Given the description of an element on the screen output the (x, y) to click on. 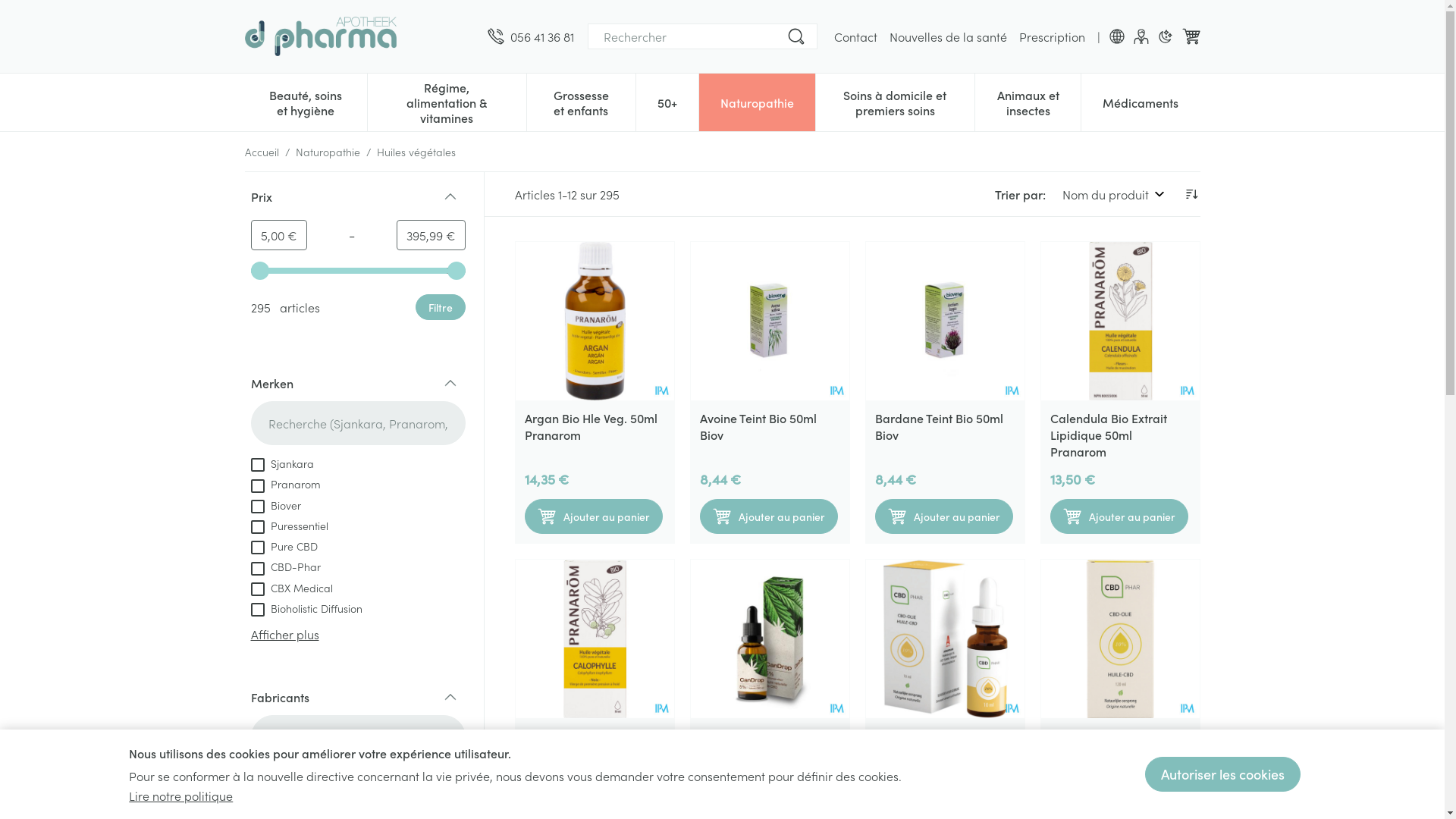
on Element type: text (256, 568)
Grossesse et enfants Element type: text (581, 100)
Argan Bio Hle Veg. 50ml Pranarom Element type: text (590, 425)
056 41 36 81 Element type: text (529, 36)
on Element type: text (256, 609)
Calophylle Bio Hle Veg. 50ml Pranarom Element type: text (588, 743)
Bardane Teint Bio 50ml Biov Element type: text (939, 425)
Pure CBD Element type: text (283, 544)
Avoine Teint Bio 50ml Biov Element type: hover (769, 320)
Ajouter au panier Element type: text (1118, 515)
Ajouter au panier Element type: text (593, 515)
on Element type: text (256, 547)
Bioholistic Diffusion Element type: text (305, 607)
Puressentiel Element type: text (288, 524)
on Element type: text (256, 485)
CBD-Phar Element type: text (285, 565)
on Element type: text (256, 464)
Pranarom Element type: text (285, 482)
Rechercher Element type: text (796, 36)
Sjankara Element type: text (281, 776)
Panier Element type: text (1190, 36)
Lire notre politique Element type: text (180, 795)
on Element type: text (256, 506)
Contact Element type: text (855, 36)
50+ Element type: text (667, 100)
Biover Element type: text (275, 503)
Filtre Element type: text (440, 307)
Menu client Element type: text (1140, 35)
on Element type: text (256, 799)
Accueil Element type: text (261, 151)
Afficher plus Element type: text (284, 633)
Calendula Bio Extrait Lipidique 50ml Pranarom Element type: text (1107, 434)
Autoriser les cookies Element type: text (1222, 773)
Argan Bio Hle Veg. 50ml Pranarom Element type: hover (594, 320)
Ajouter au panier Element type: text (944, 515)
Apotheek d pharma Element type: hover (319, 36)
Ajouter au panier Element type: text (768, 515)
Prescription Element type: text (1052, 36)
Cbd-huile 10% 10ml Cbd-phar Element type: text (944, 743)
Apotheek d pharma Element type: hover (359, 36)
Cbd-huile 10% 10ml Cbd-phar Element type: hover (945, 638)
Calophylle Bio Hle Veg. 50ml Pranarom Element type: hover (594, 638)
Naturopathie Element type: text (757, 100)
Animaux et insectes Element type: text (1027, 100)
Mode sombre Element type: text (1164, 35)
Langues Element type: text (1115, 35)
Sjankara Element type: text (281, 462)
Candrop 5% Huile Cbd 10ml Cbx Medical Element type: hover (769, 638)
Calendula Bio Extrait Lipidique 50ml Pranarom Element type: hover (1119, 320)
Candrop 5% Huile Cbd 10ml Cbx Medical Element type: text (761, 743)
Cbd-huile 10% 120ml Cbd-phar Element type: text (1105, 743)
Naturopathie Element type: text (327, 151)
CBX Medical Element type: text (291, 586)
on Element type: text (256, 589)
Avoine Teint Bio 50ml Biov Element type: text (757, 425)
Cbd-huile 10% 120ml Cbd-phar Element type: hover (1119, 638)
Bardane Teint Bio 50ml Biov Element type: hover (945, 320)
Pranarom International Element type: text (317, 796)
on Element type: text (256, 778)
on Element type: text (256, 526)
